Given the description of an element on the screen output the (x, y) to click on. 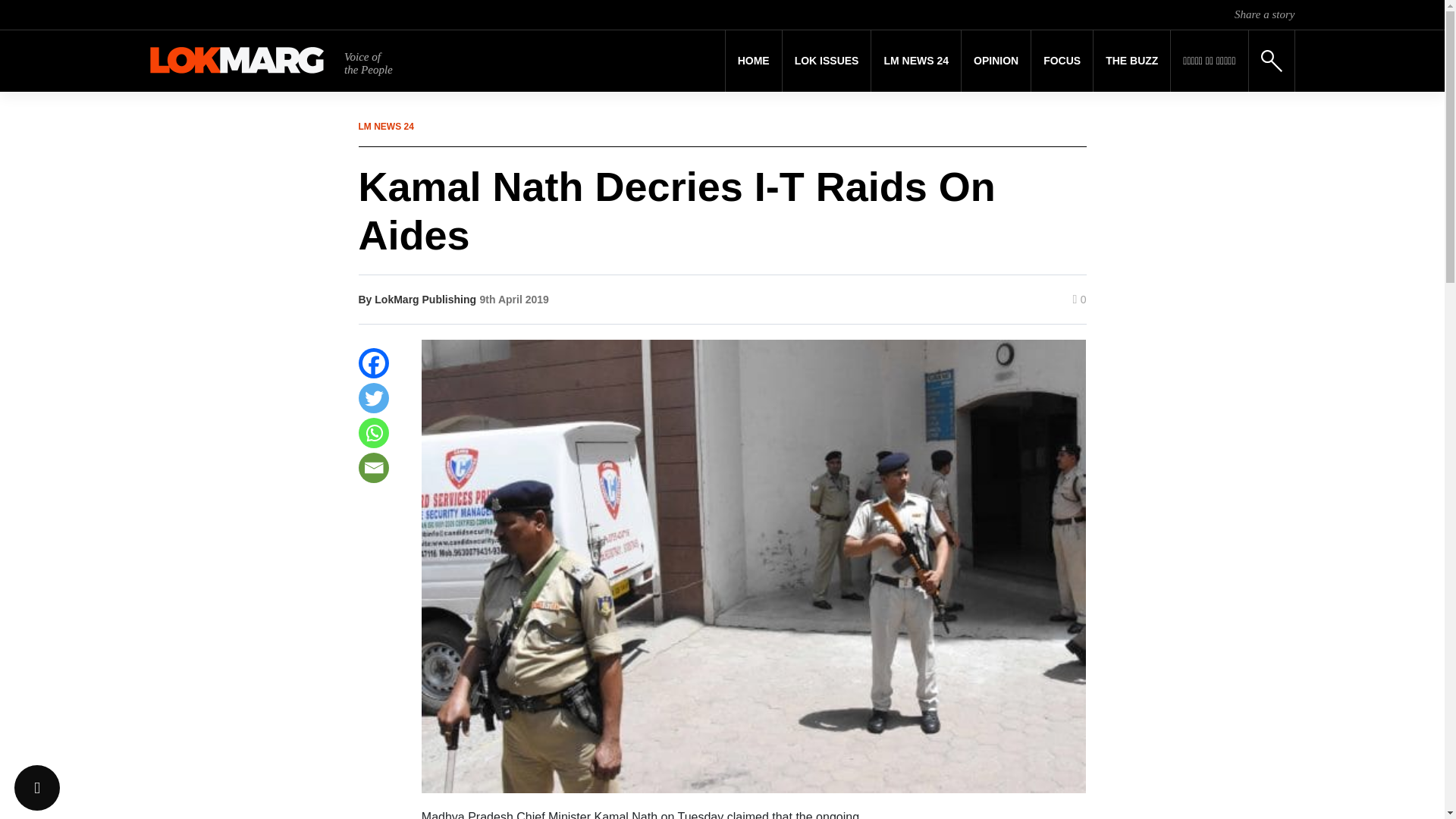
LM News 24 (915, 60)
Focus (1061, 60)
LM NEWS 24 (915, 60)
Twitter (373, 398)
Home (753, 60)
THE BUZZ (1131, 60)
THE BUZZ (1131, 60)
LokMarg Publishing (425, 299)
Opinion (995, 60)
HOME (753, 60)
Whatsapp (373, 432)
LOK ISSUES (826, 60)
Share a story (1264, 14)
FOCUS (1061, 60)
Lok Issues (826, 60)
